Given the description of an element on the screen output the (x, y) to click on. 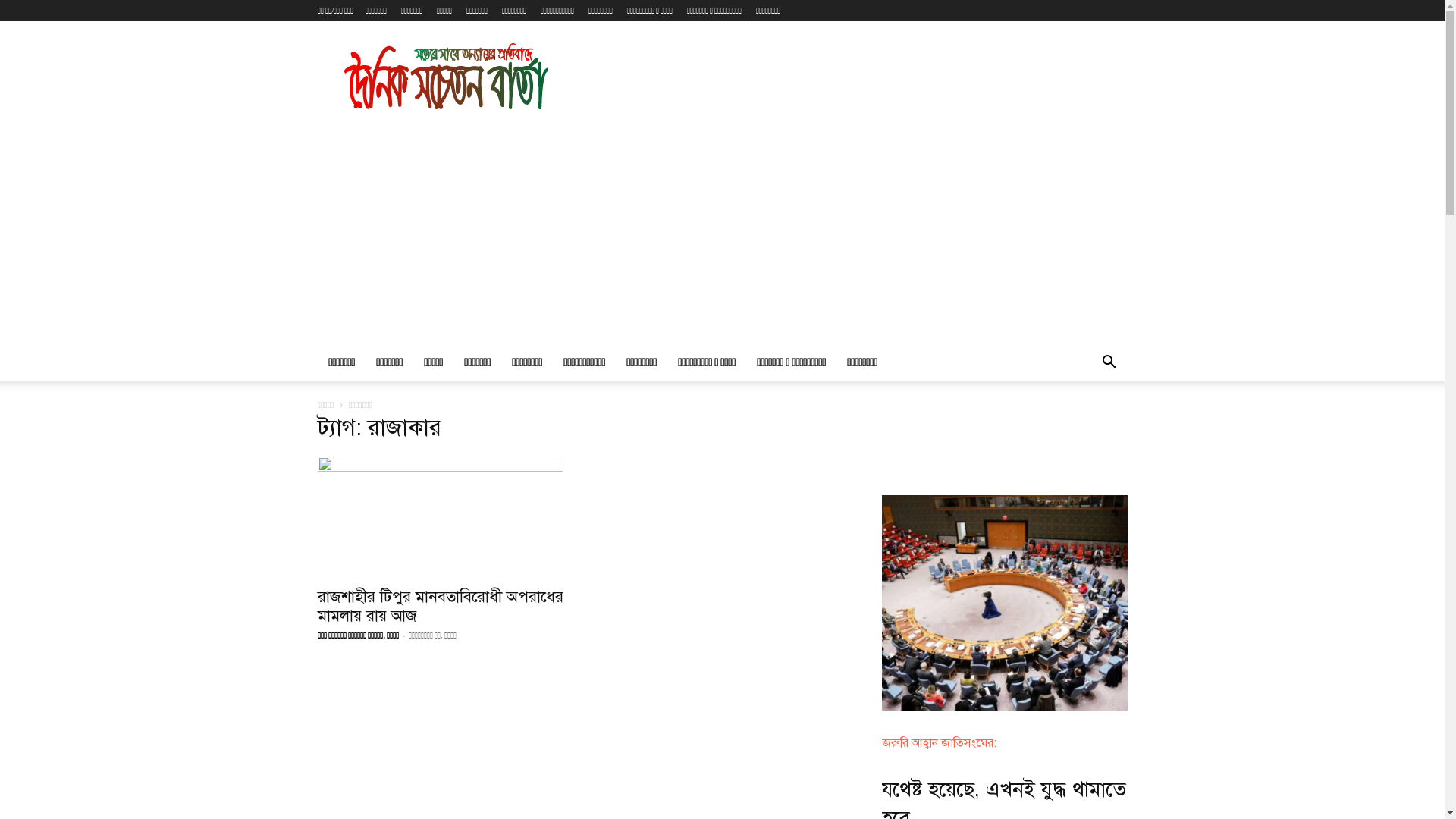
Advertisement Element type: hover (721, 231)
Advertisement Element type: hover (850, 76)
